Given the description of an element on the screen output the (x, y) to click on. 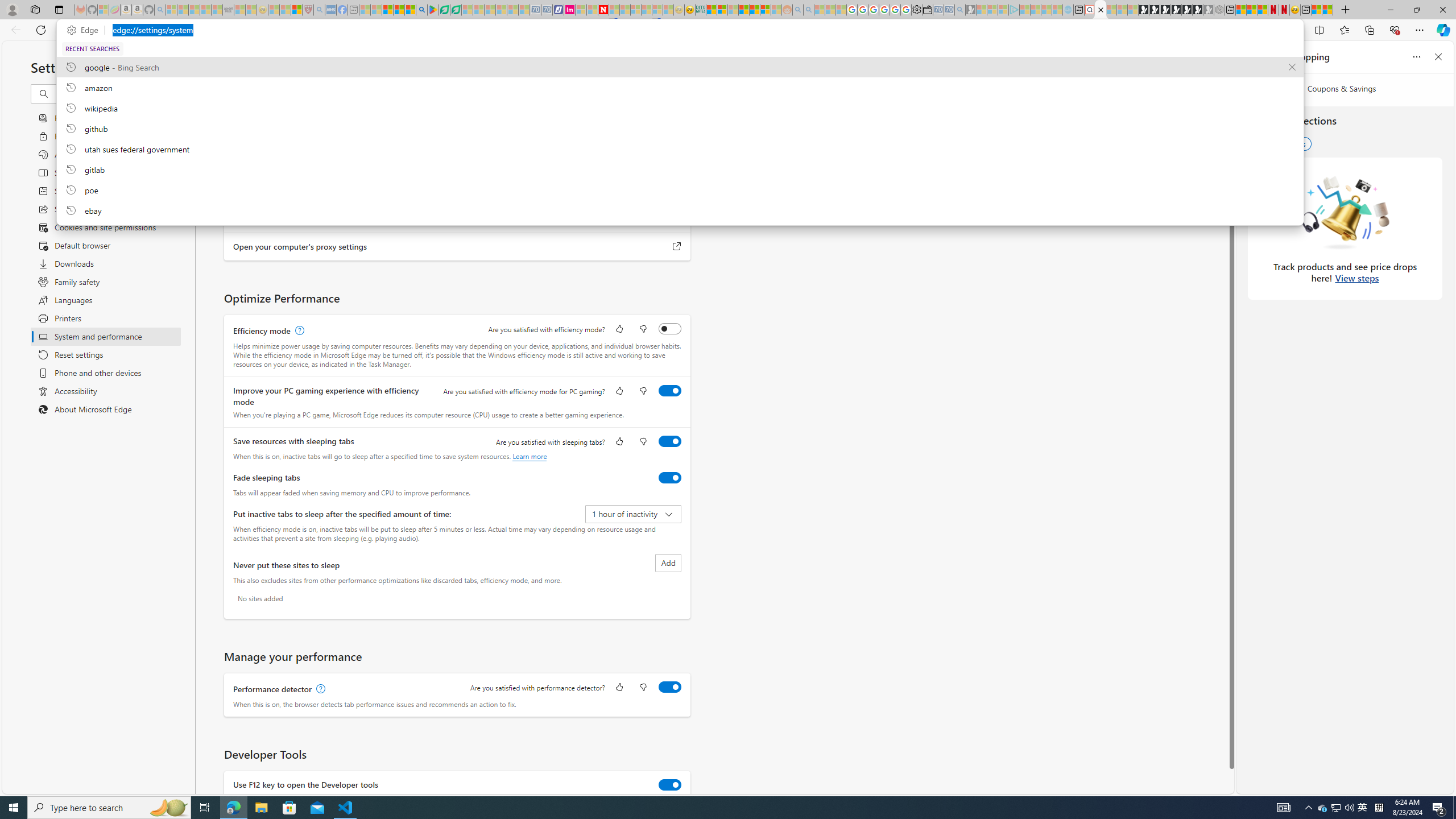
Jobs - lastminute.com Investor Portal (569, 9)
Use F12 key to open the Developer tools (669, 784)
gitlab, recent searches from history (679, 168)
Microsoft Word - consumer-privacy address update 2.2021 (455, 9)
